Given the description of an element on the screen output the (x, y) to click on. 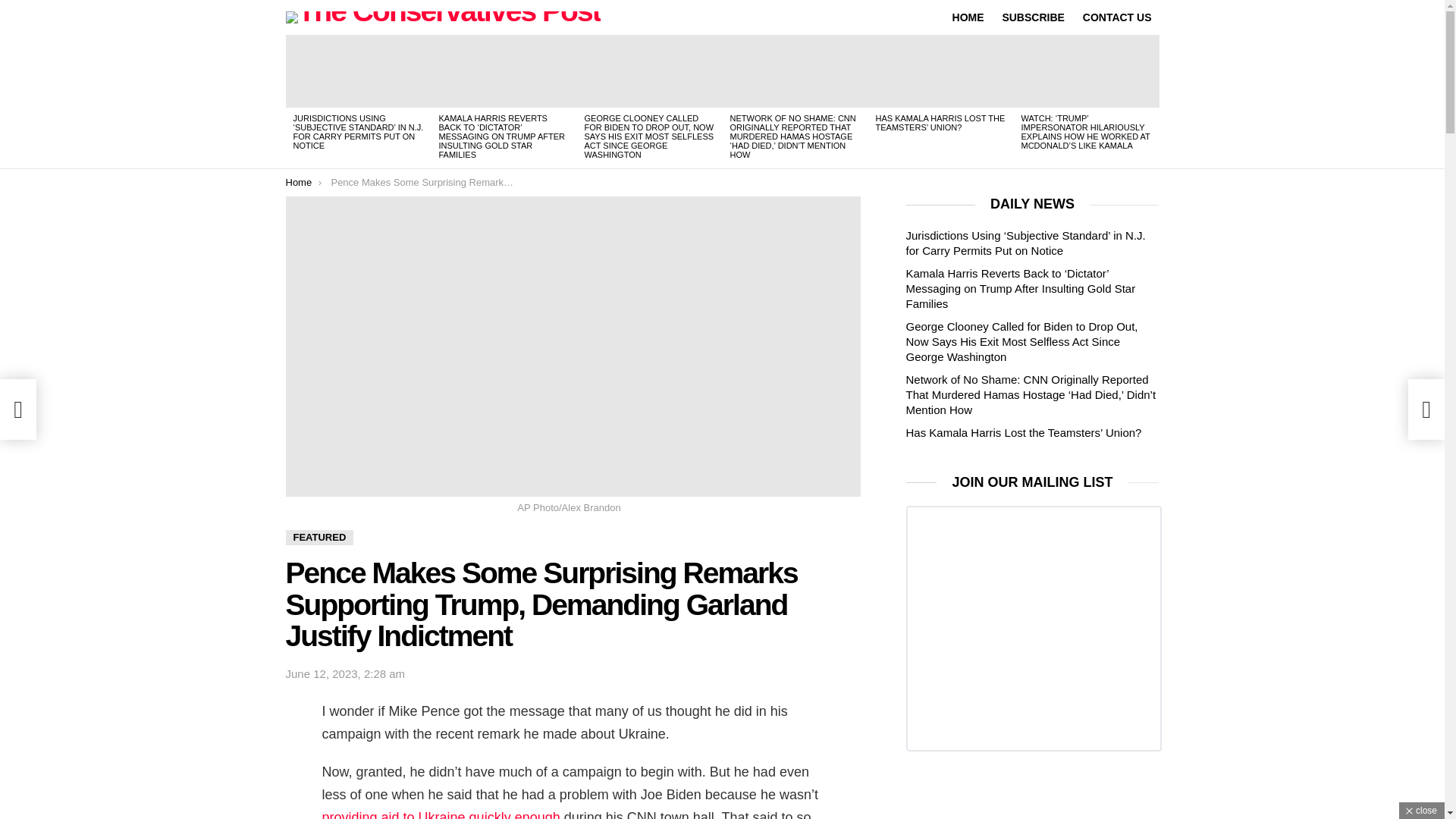
CONTACT US (1116, 16)
SUBSCRIBE (1032, 16)
providing aid to Ukraine quickly enough (442, 814)
HOME (967, 16)
FEATURED (319, 537)
Home (298, 182)
